Given the description of an element on the screen output the (x, y) to click on. 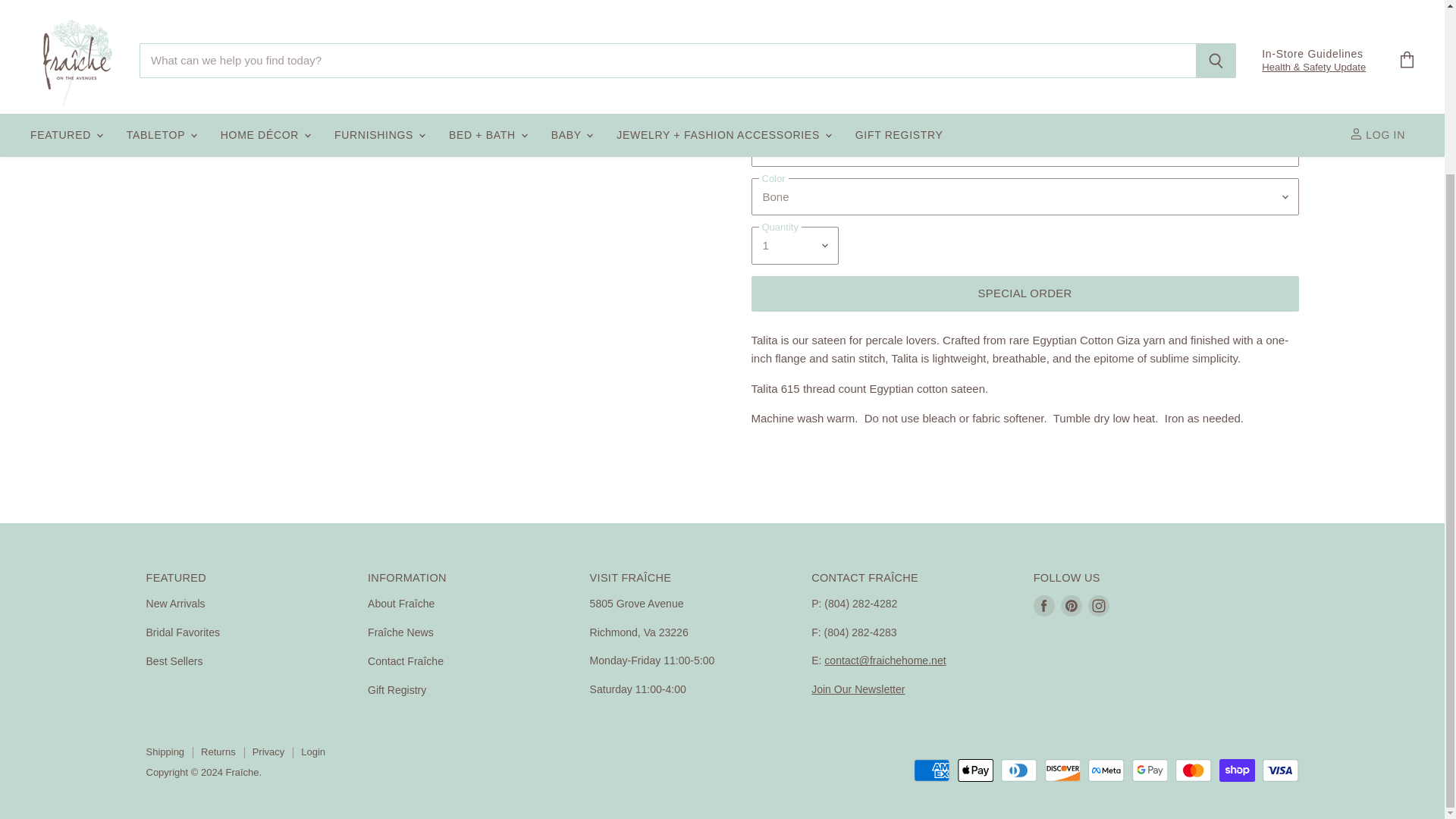
Facebook (1044, 605)
Instagram (1098, 605)
Pinterest (1071, 605)
Matouk (794, 61)
